Given the description of an element on the screen output the (x, y) to click on. 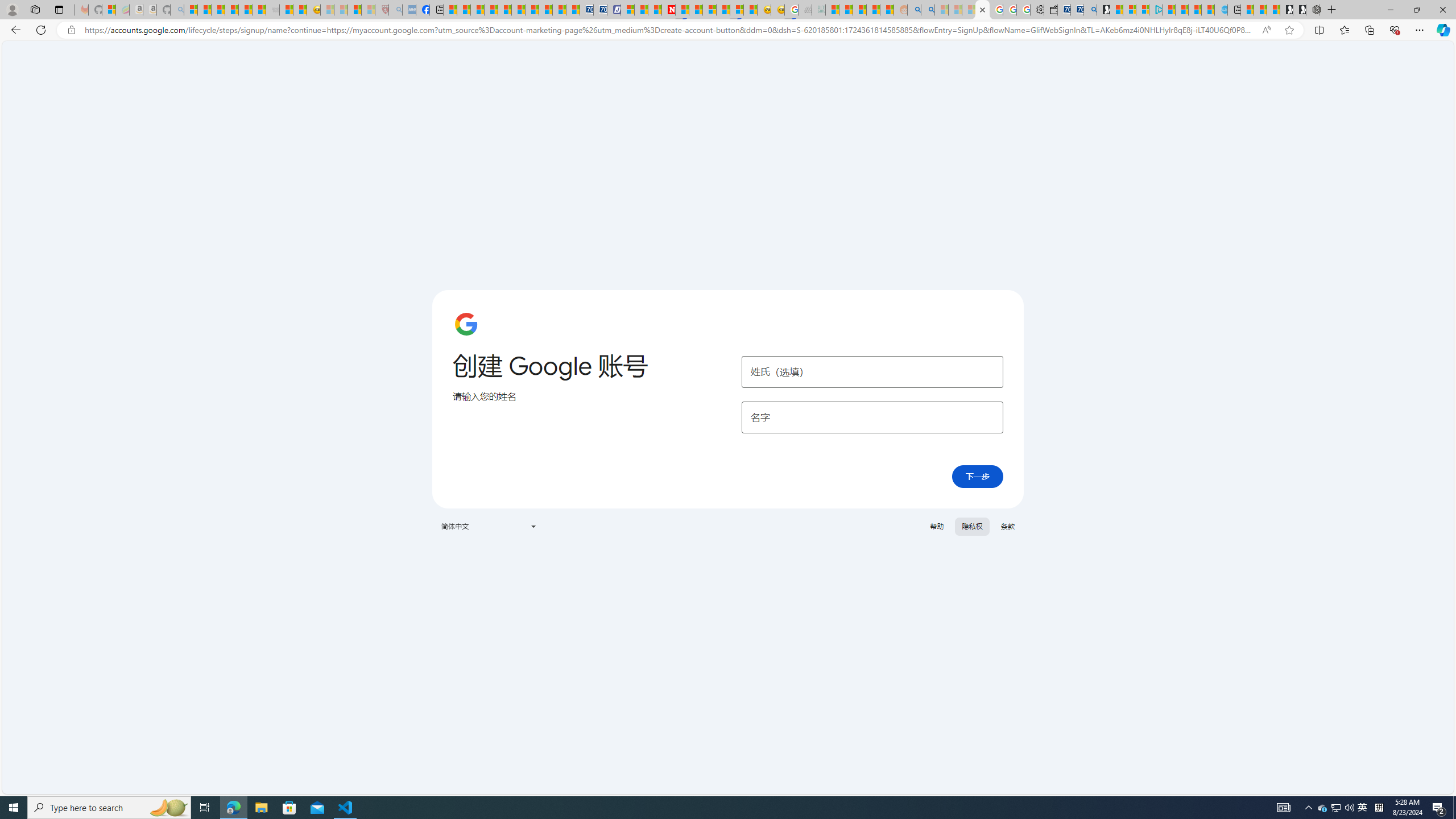
The Weather Channel - MSN (218, 9)
12 Popular Science Lies that Must be Corrected - Sleeping (368, 9)
Wallet (1050, 9)
